Given the description of an element on the screen output the (x, y) to click on. 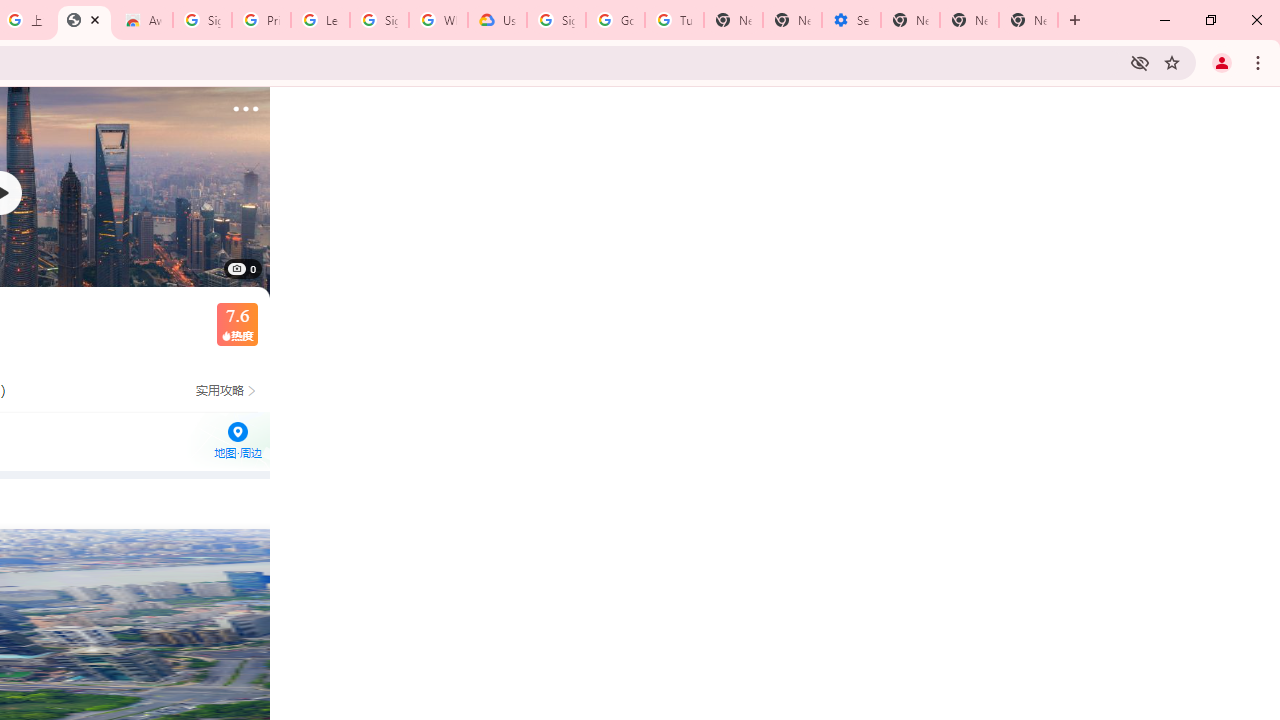
Turn cookies on or off - Computer - Google Account Help (674, 20)
Sign in - Google Accounts (201, 20)
New Tab (909, 20)
New Tab (1028, 20)
Google Account Help (615, 20)
Awesome Screen Recorder & Screenshot - Chrome Web Store (142, 20)
Sign in - Google Accounts (556, 20)
